Given the description of an element on the screen output the (x, y) to click on. 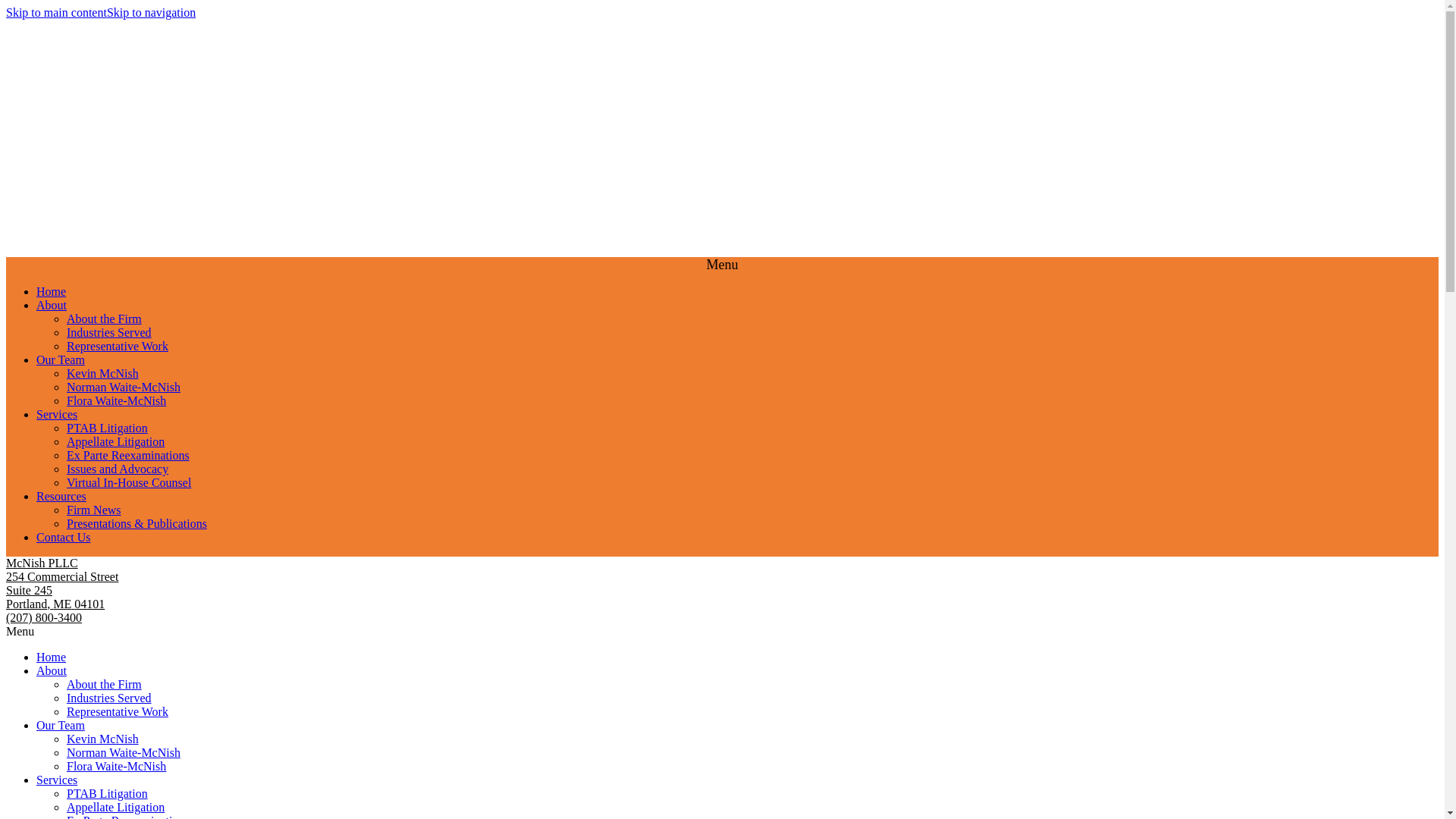
Resources (60, 495)
About (51, 670)
Virtual In-House Counsel (128, 481)
Our Team (60, 725)
About (51, 305)
Services (56, 413)
Ex Parte Reexaminations (127, 816)
Representative Work (117, 711)
PTAB Litigation (107, 793)
Ex Parte Reexaminations (127, 454)
